Given the description of an element on the screen output the (x, y) to click on. 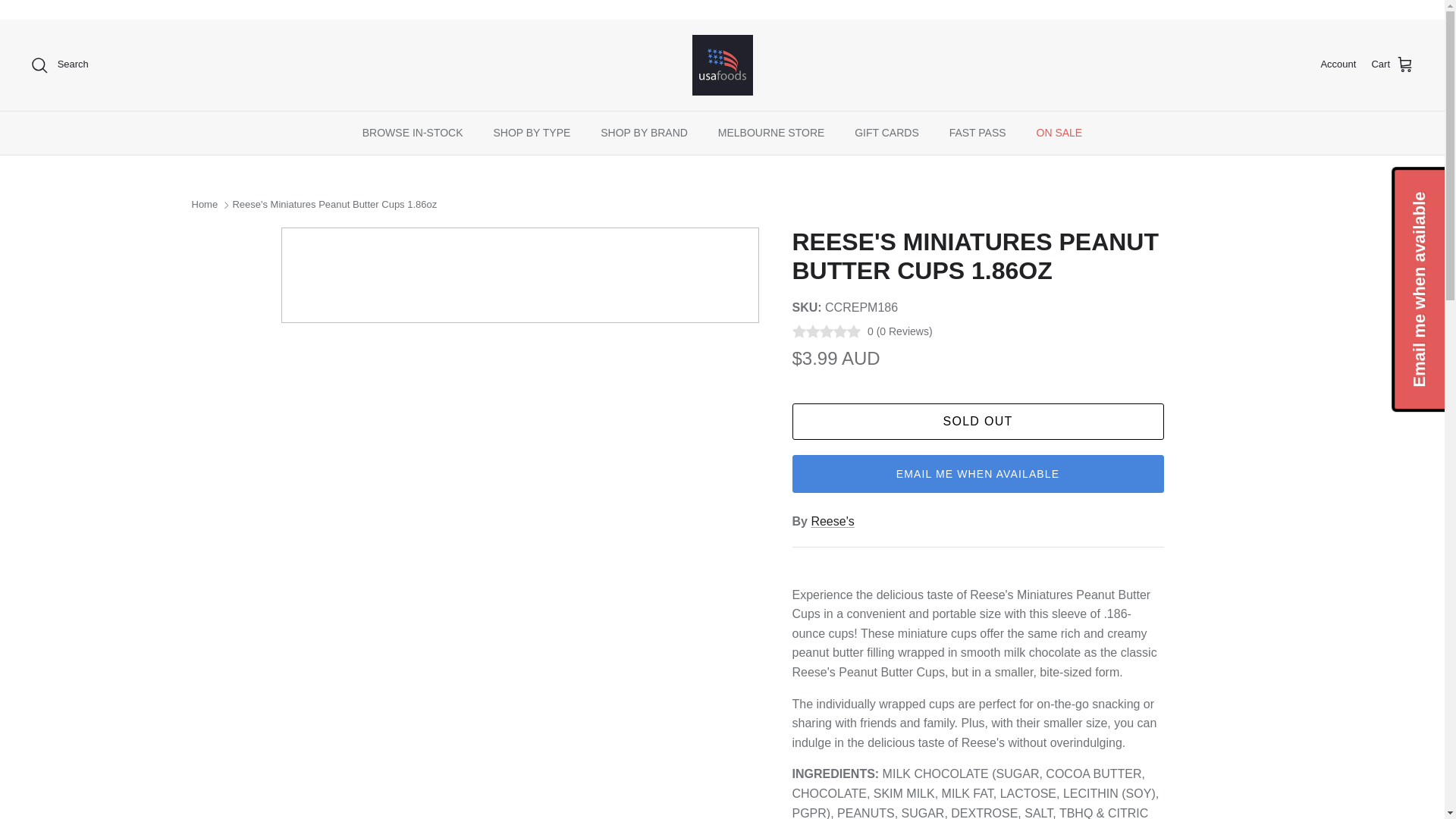
Search (59, 65)
BROWSE IN-STOCK (413, 132)
Cart (1392, 65)
Account (1337, 64)
USAFoods (721, 65)
SHOP BY TYPE (531, 132)
